Given the description of an element on the screen output the (x, y) to click on. 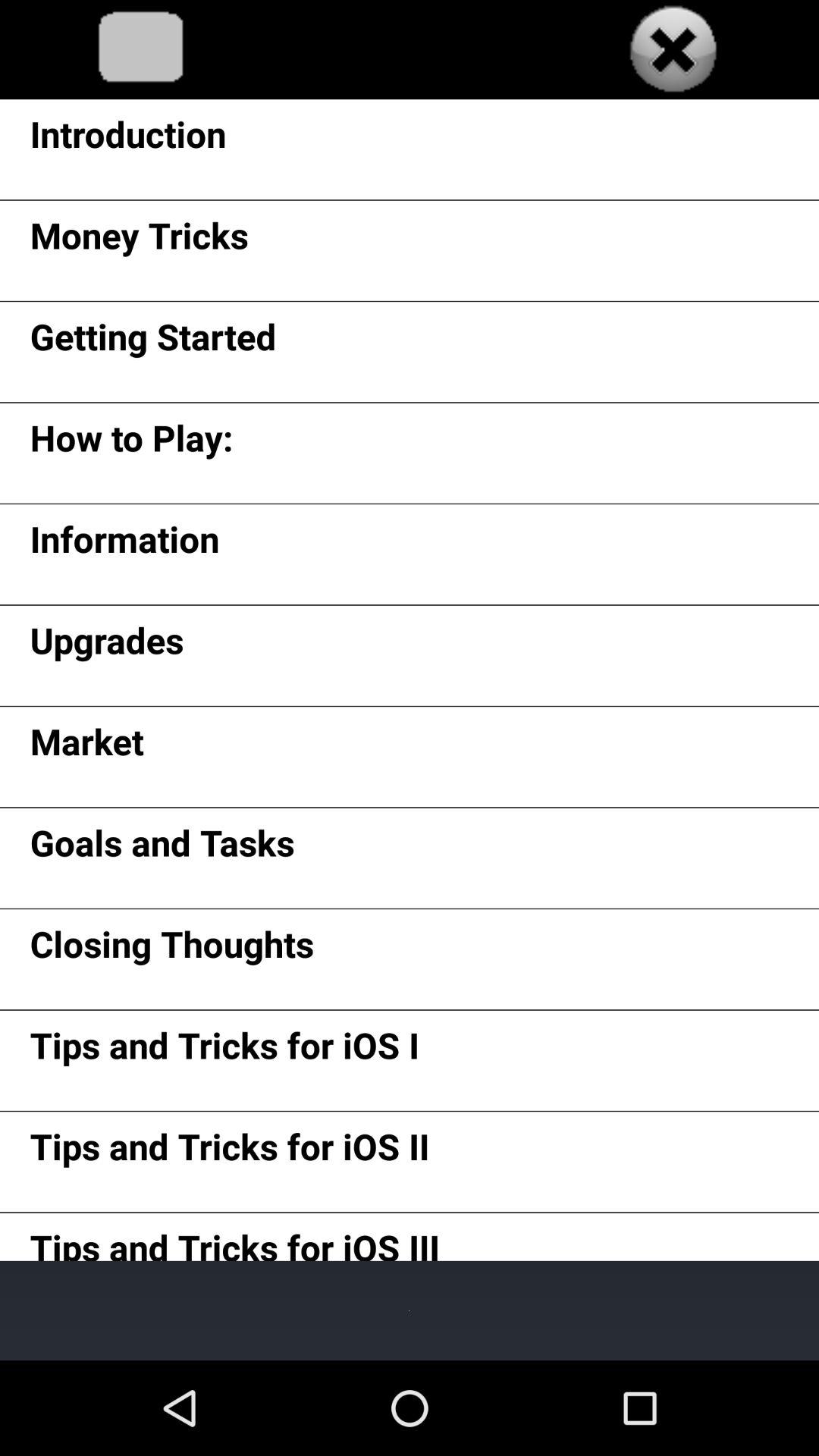
choose upgrades item (106, 645)
